Given the description of an element on the screen output the (x, y) to click on. 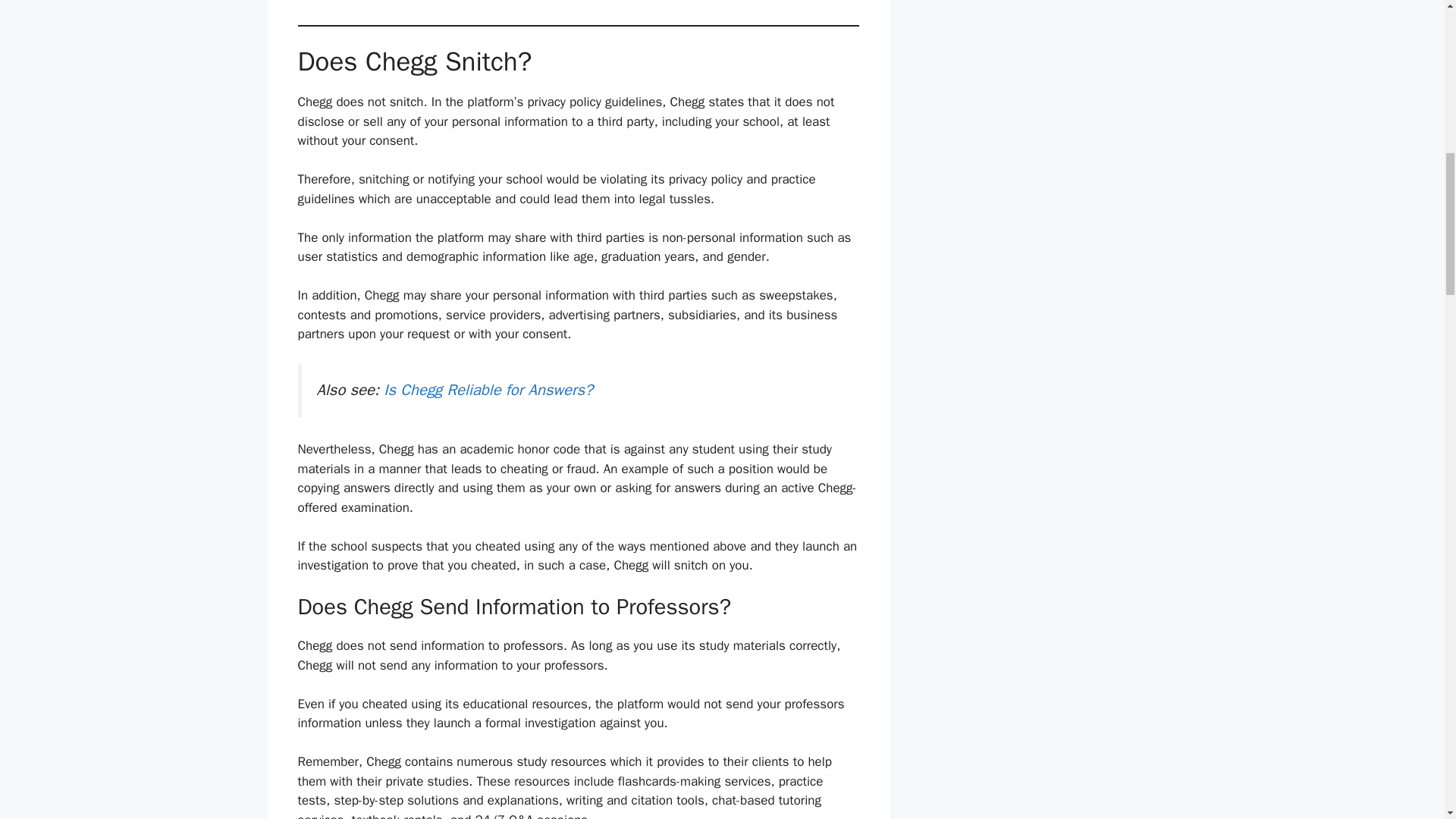
Is Chegg Reliable for Answers? (488, 389)
